Given the description of an element on the screen output the (x, y) to click on. 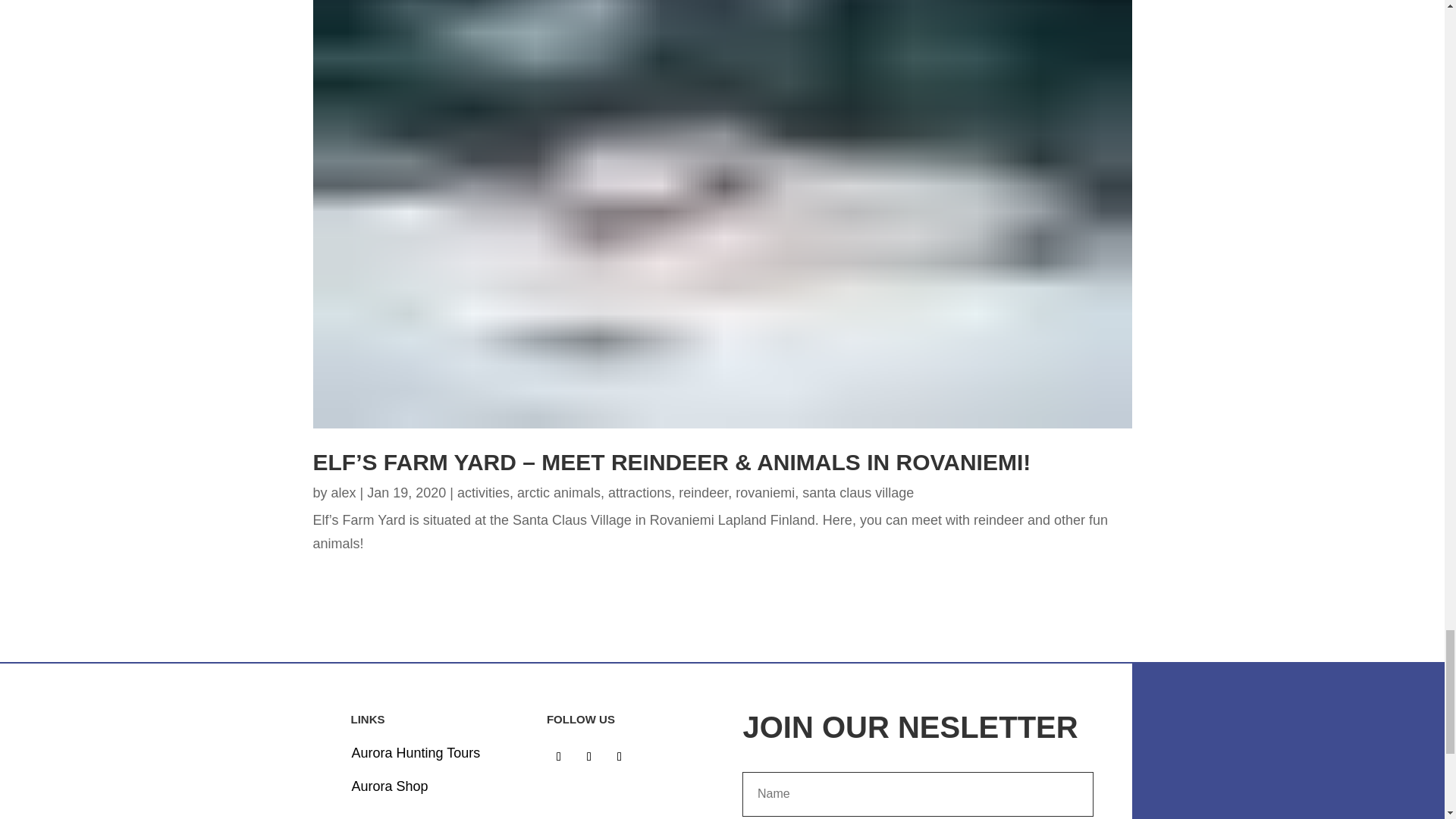
Posts by alex (343, 492)
Follow on Facebook (558, 756)
Aurora Hunting Tours (416, 752)
Follow on LinkedIn (619, 756)
Aurora Shop (390, 785)
Follow on Twitter (588, 756)
